Given the description of an element on the screen output the (x, y) to click on. 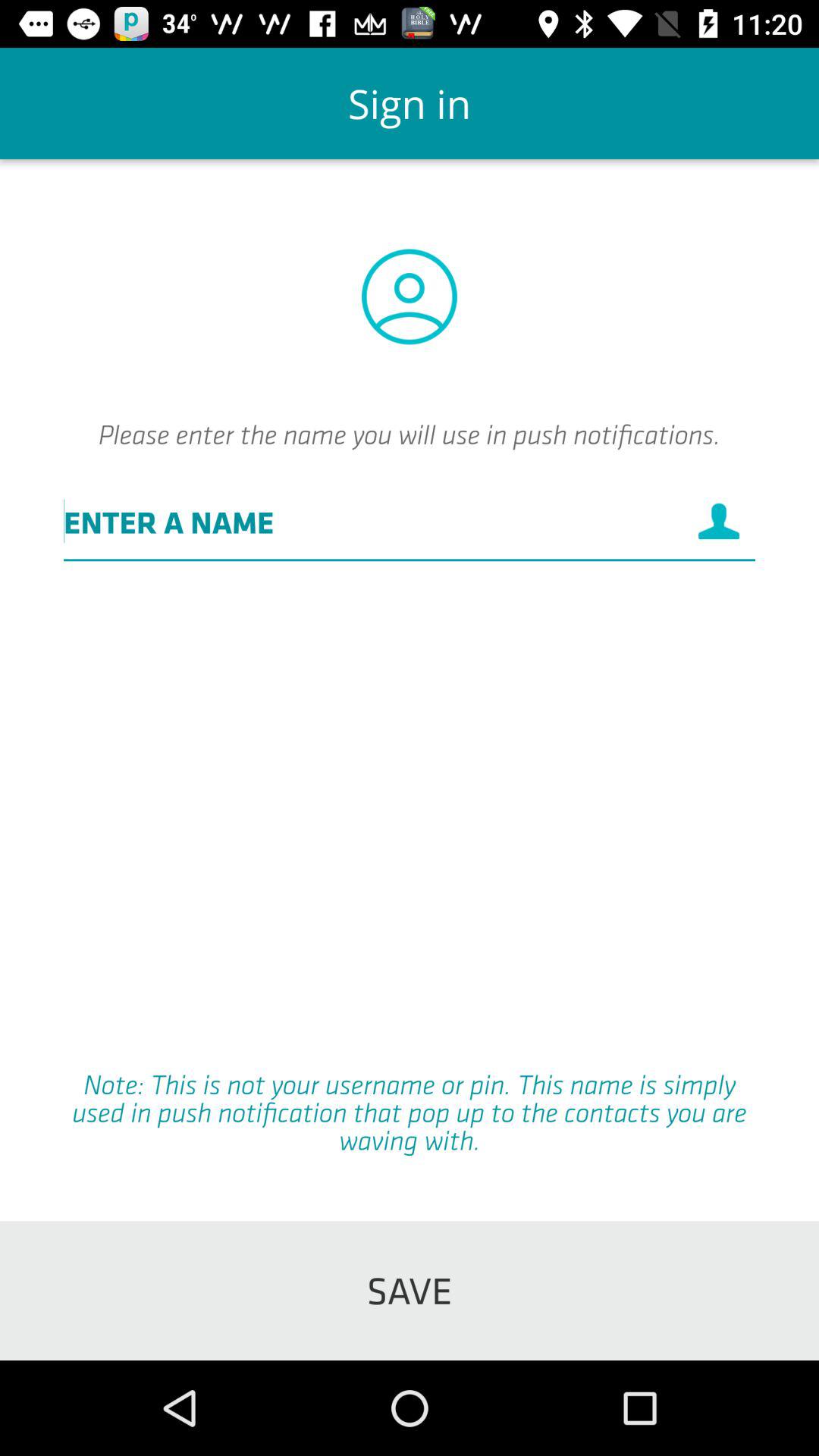
press the icon below note this is (409, 1290)
